Given the description of an element on the screen output the (x, y) to click on. 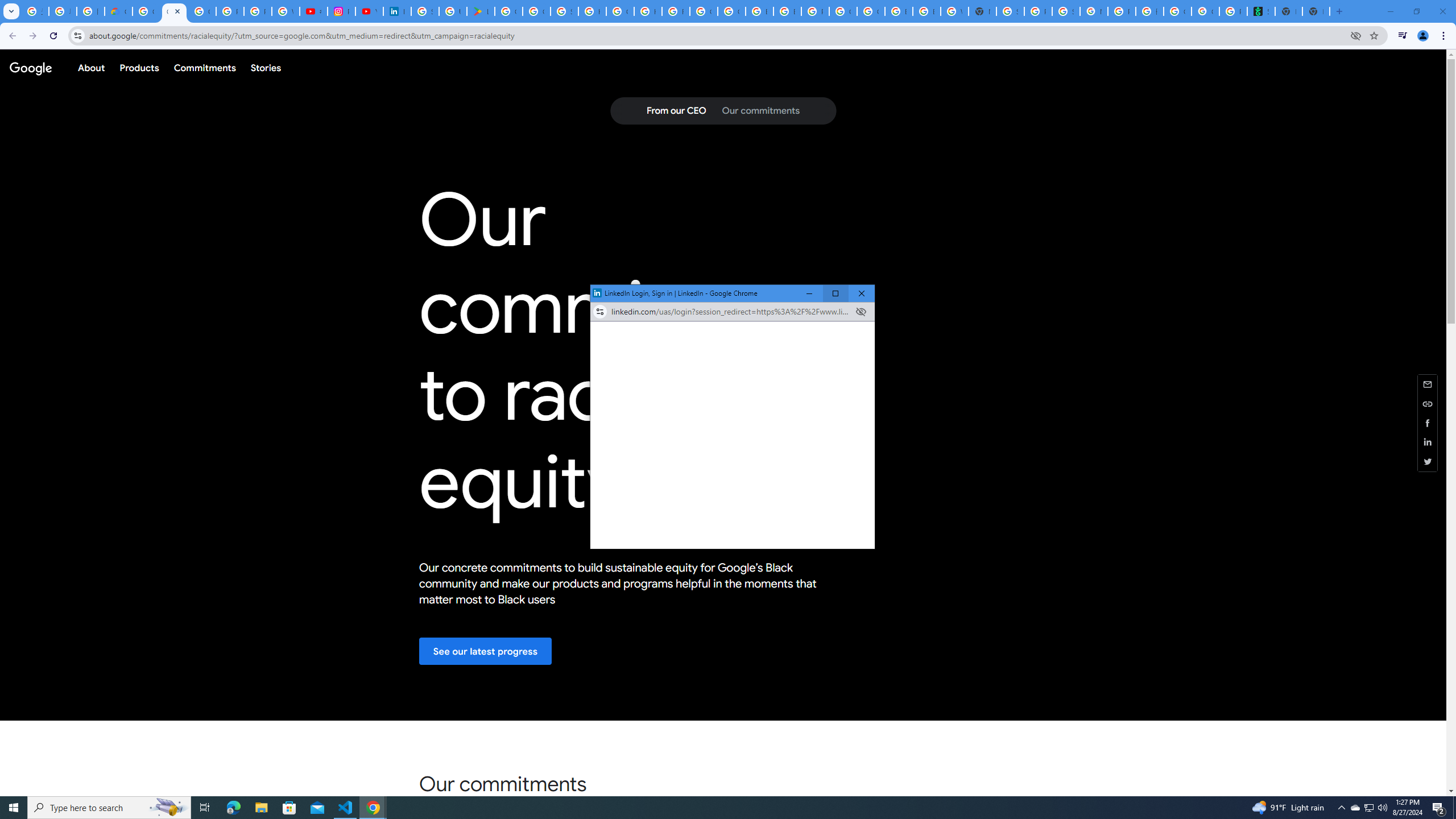
User Promoted Notification Area (1368, 807)
Share this page (Copy) (1427, 403)
Action Center, 2 new notifications (1439, 807)
Search highlights icon opens search home window (167, 807)
Google Cloud Platform (842, 11)
